Given the description of an element on the screen output the (x, y) to click on. 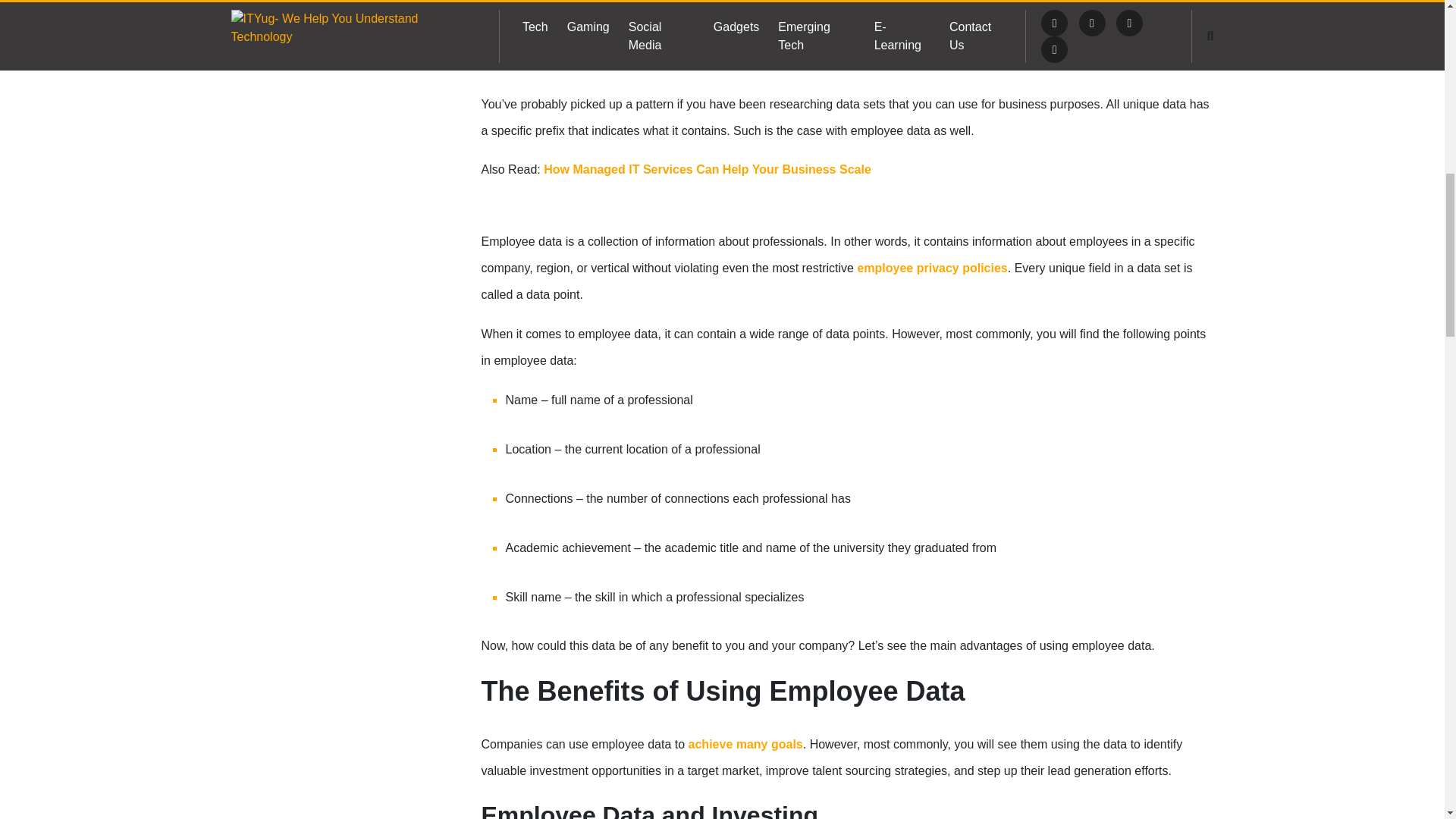
achieve many goals (745, 744)
How Managed IT Services Can Help Your Business Scale (706, 169)
employee privacy policies (932, 267)
